Given the description of an element on the screen output the (x, y) to click on. 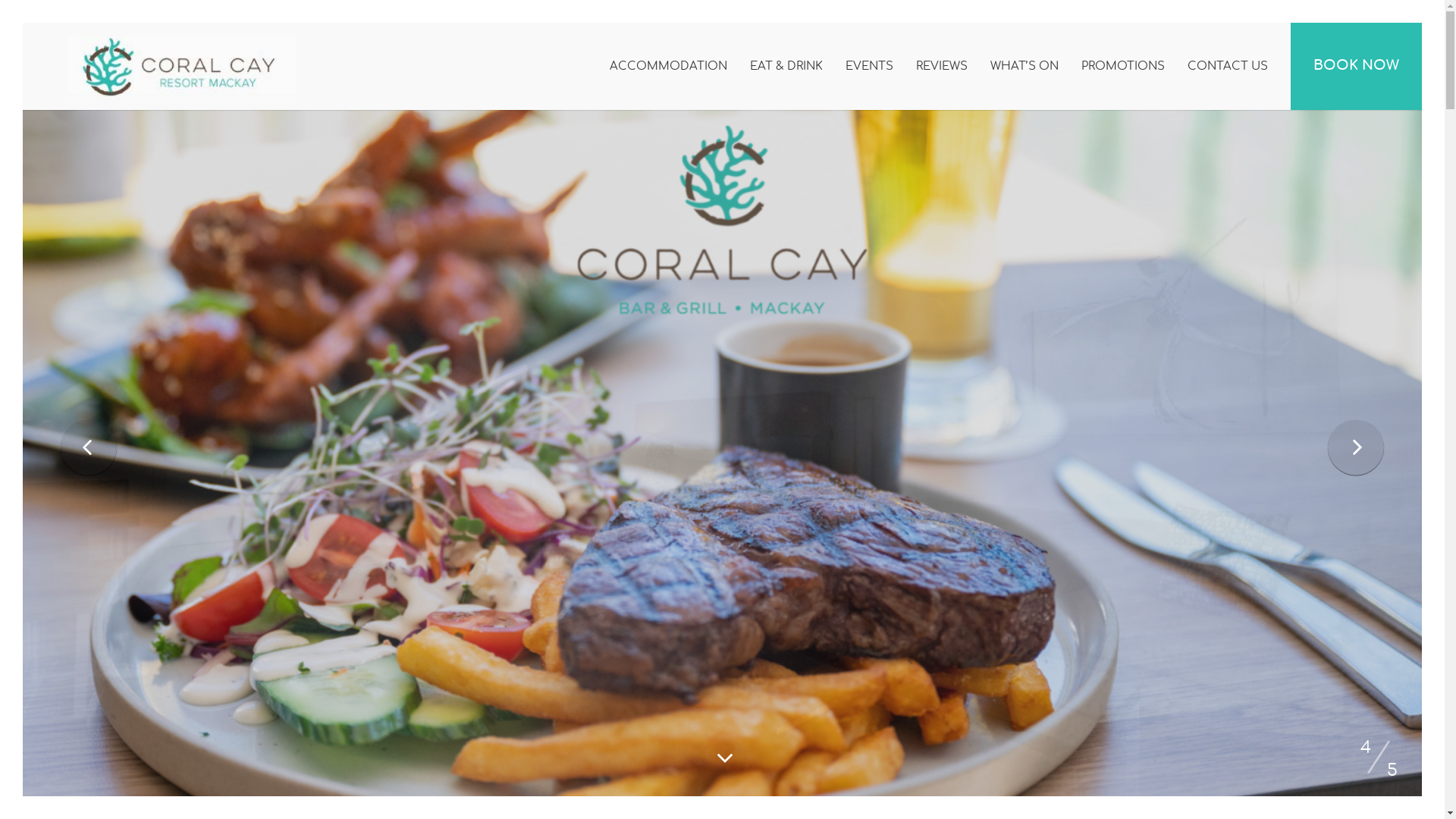
BOOK NOW Element type: text (1355, 65)
REVIEWS Element type: text (941, 65)
CONTACT US Element type: text (1227, 65)
Coral Cay Resort Element type: hover (181, 64)
EVENTS Element type: text (869, 65)
EAT & DRINK Element type: text (786, 65)
PROMOTIONS Element type: text (1123, 65)
ACCOMMODATION Element type: text (668, 65)
